Given the description of an element on the screen output the (x, y) to click on. 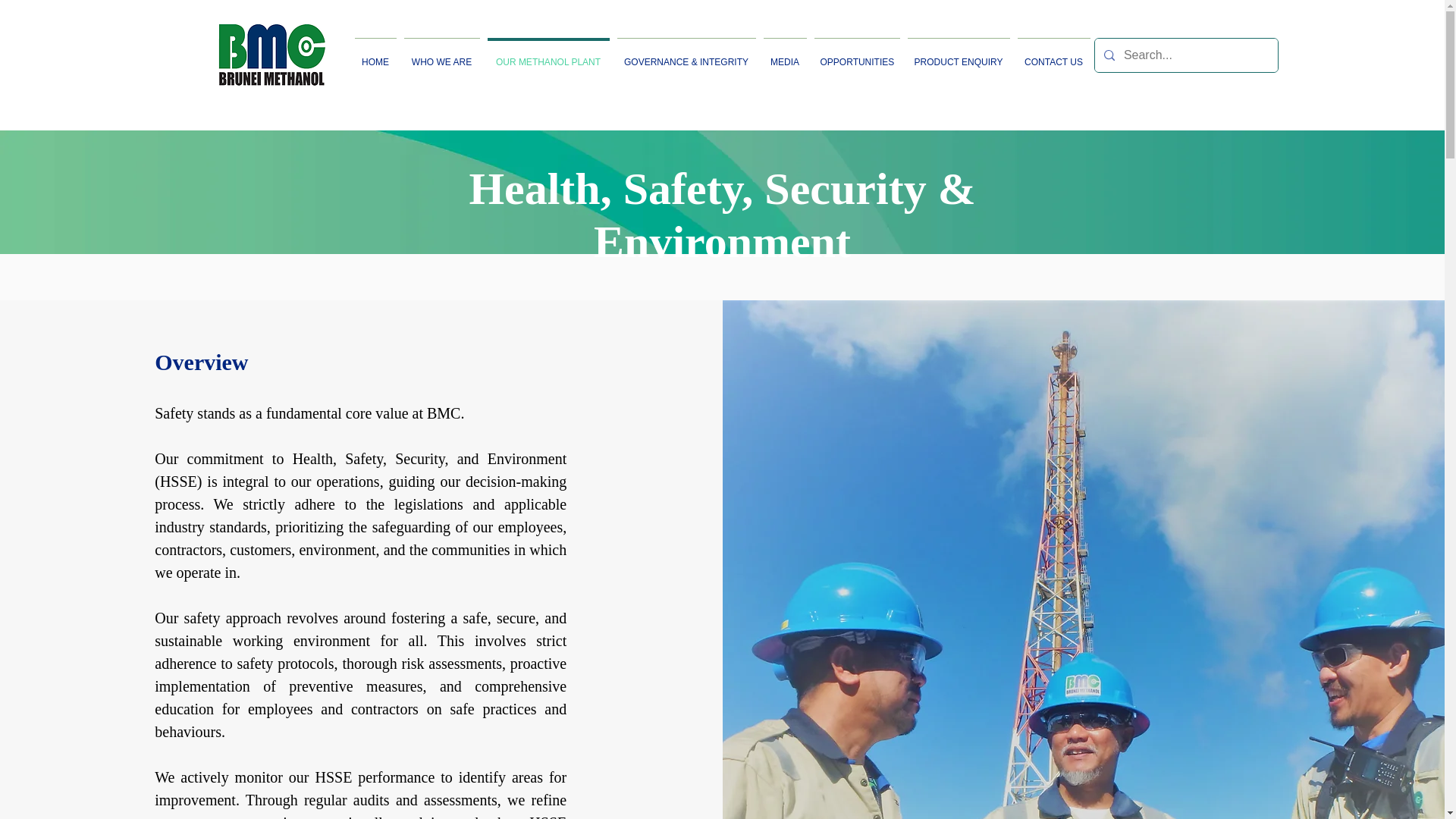
HOME (374, 54)
MEDIA (785, 54)
OPPORTUNITIES (855, 54)
CONTACT US (1053, 54)
PRODUCT ENQUIRY (958, 54)
OUR METHANOL PLANT (547, 54)
WHO WE ARE (441, 54)
